Given the description of an element on the screen output the (x, y) to click on. 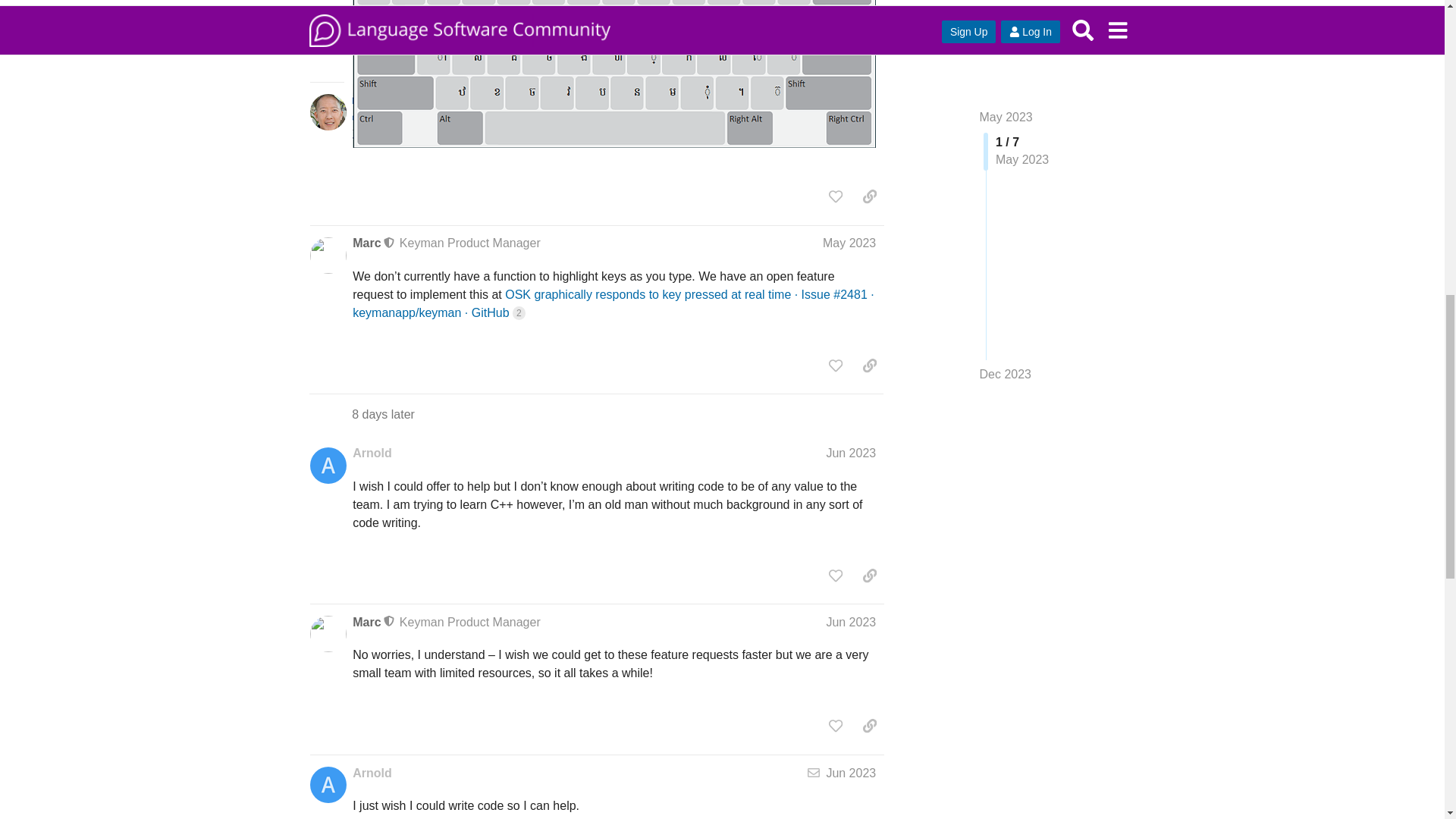
May 2023 (849, 242)
Marc (366, 243)
copy a link to this post to clipboard (869, 196)
like this post (835, 196)
khmer osk (614, 74)
This user is a moderator (390, 243)
